Given the description of an element on the screen output the (x, y) to click on. 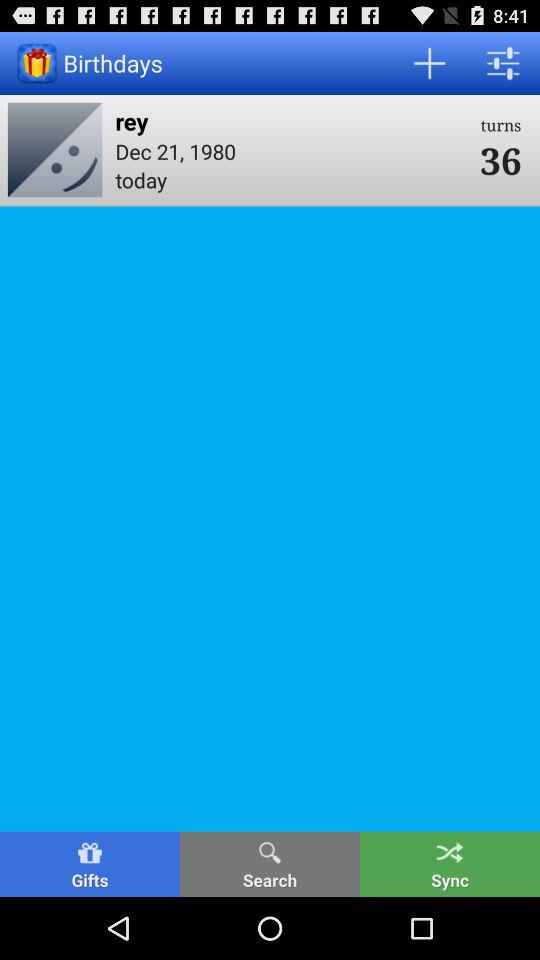
turn off the app below rey app (291, 150)
